Given the description of an element on the screen output the (x, y) to click on. 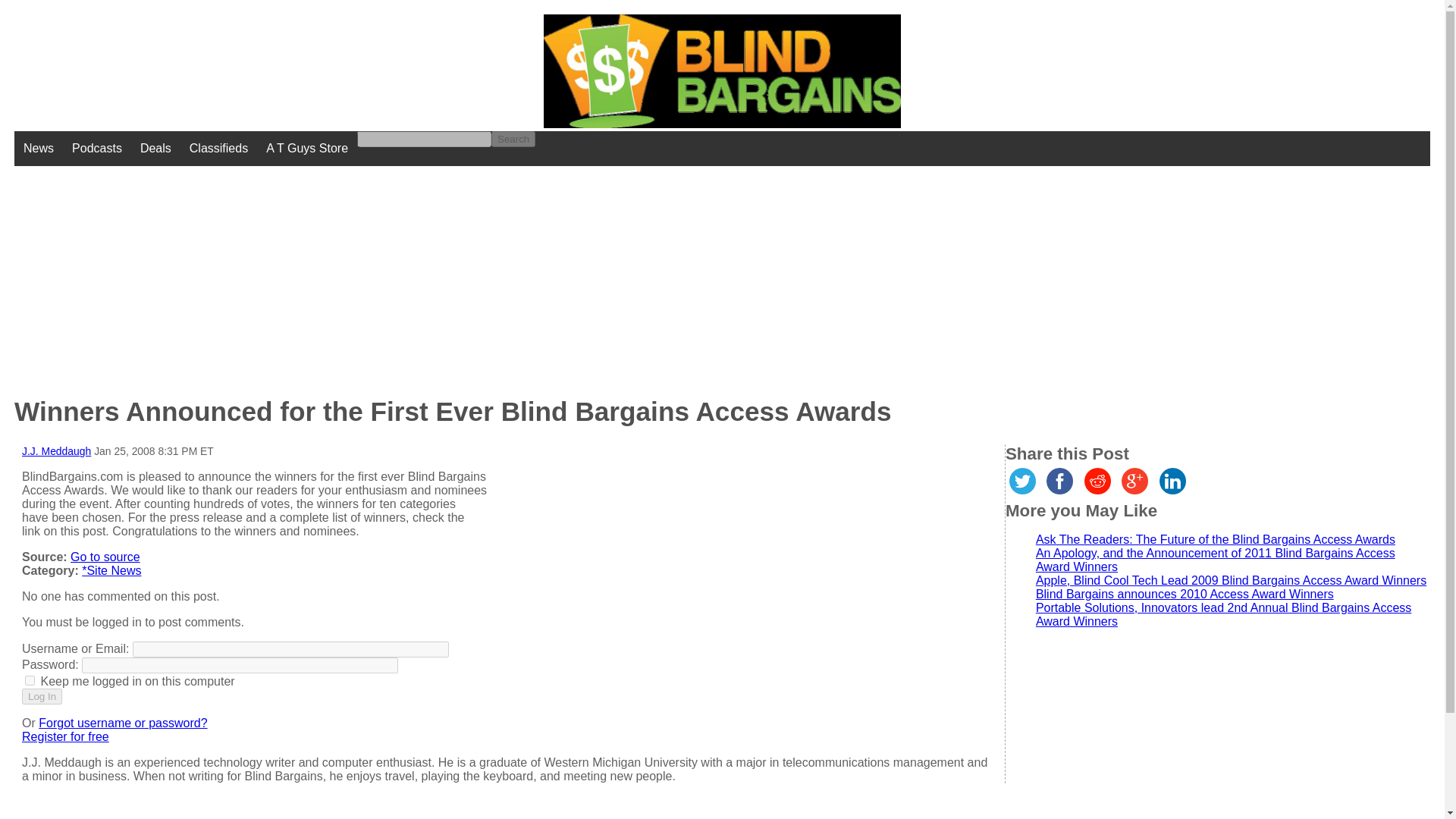
Register for free (65, 736)
Log In (41, 696)
News (38, 148)
A T Guys Store (306, 148)
Log In (41, 696)
Keep me logged in on this computer (29, 680)
Search (513, 139)
Forgot username or password? (122, 722)
Deals (155, 148)
Go to source (104, 556)
Blind Bargains announces 2010 Access Award Winners (1184, 594)
username or E-mail (290, 649)
